Given the description of an element on the screen output the (x, y) to click on. 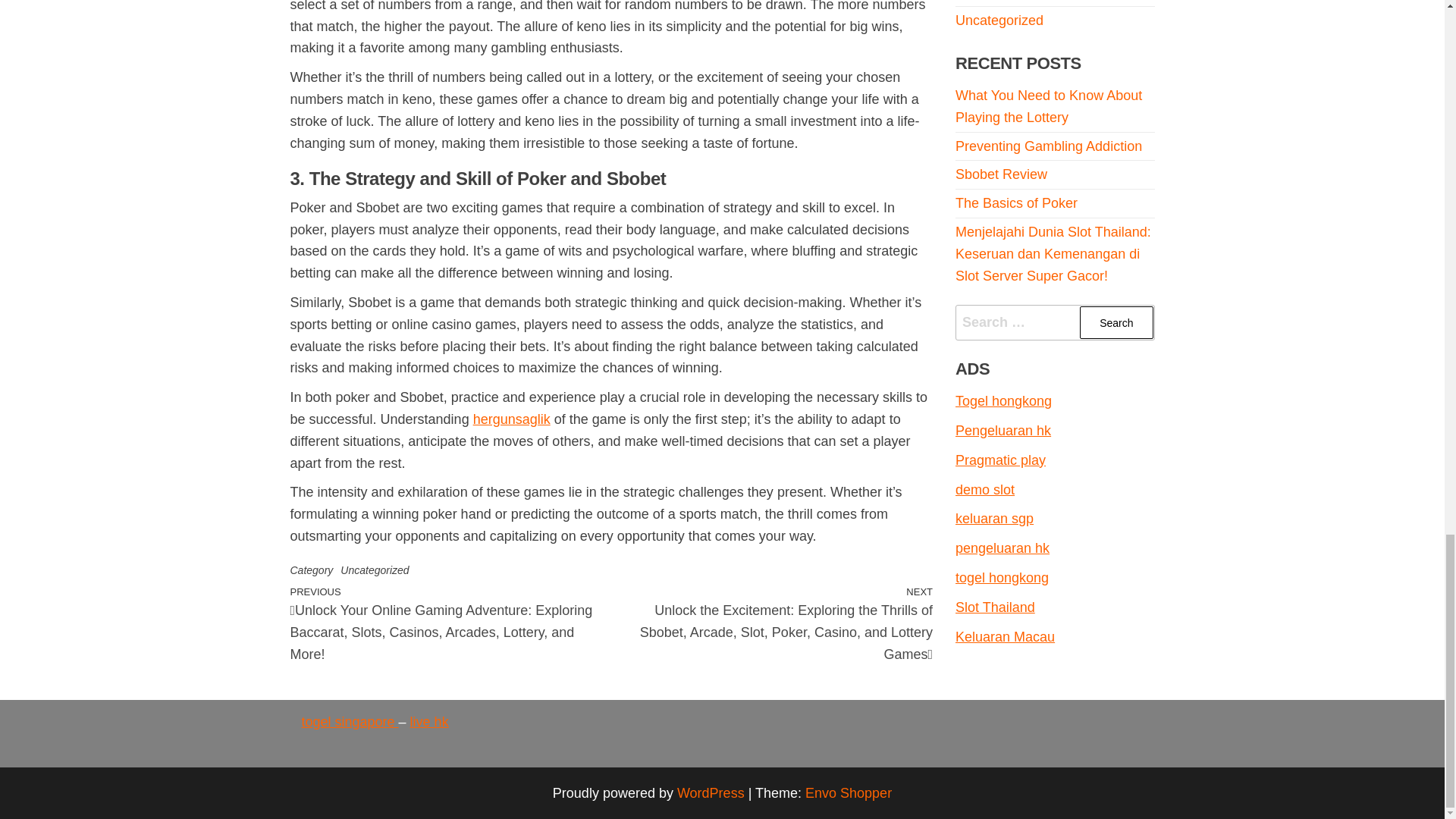
Search (1116, 322)
Uncategorized (374, 570)
hergunsaglik (511, 418)
Search (1116, 322)
